Given the description of an element on the screen output the (x, y) to click on. 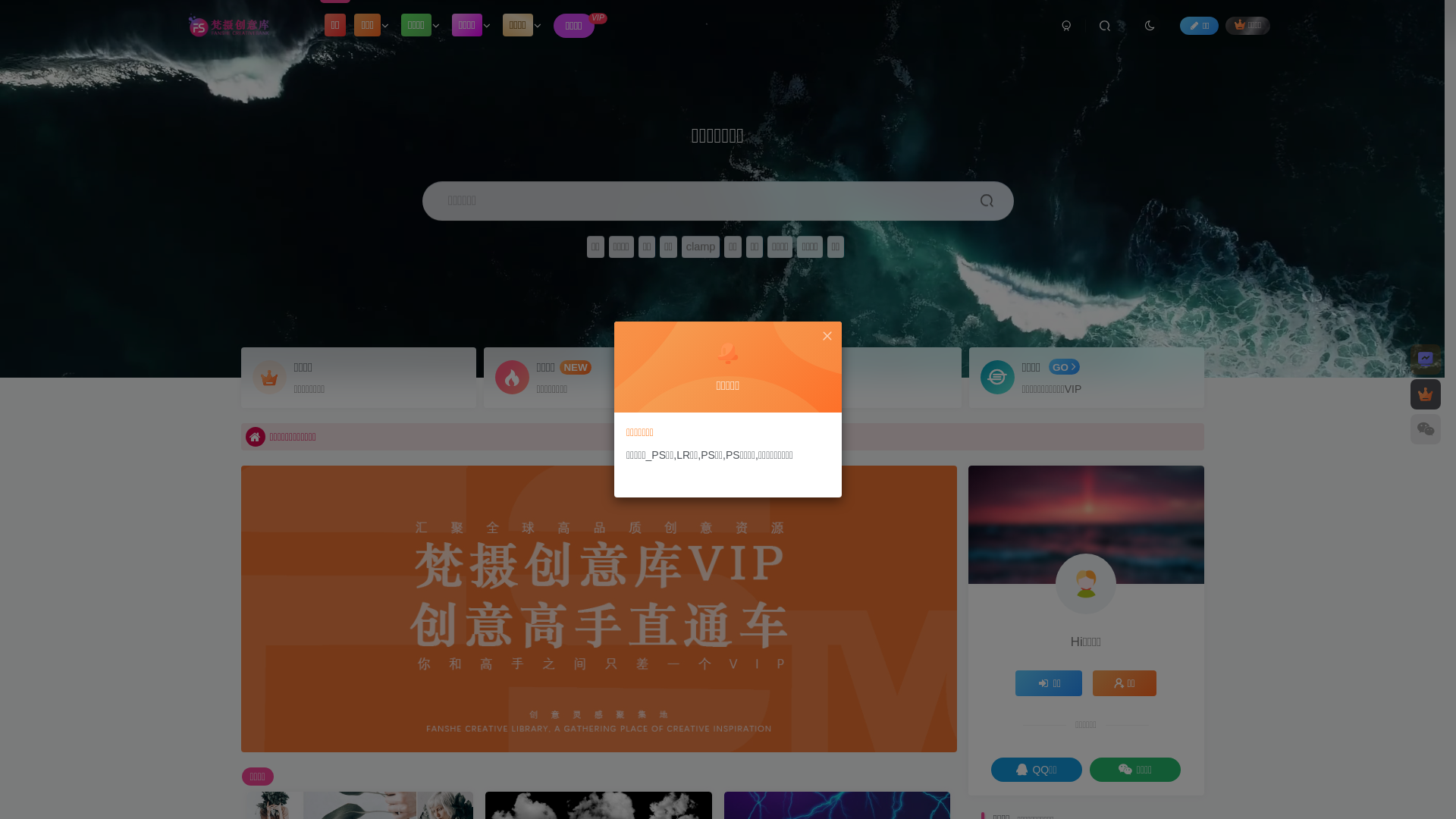
clamp Element type: text (700, 246)
